Given the description of an element on the screen output the (x, y) to click on. 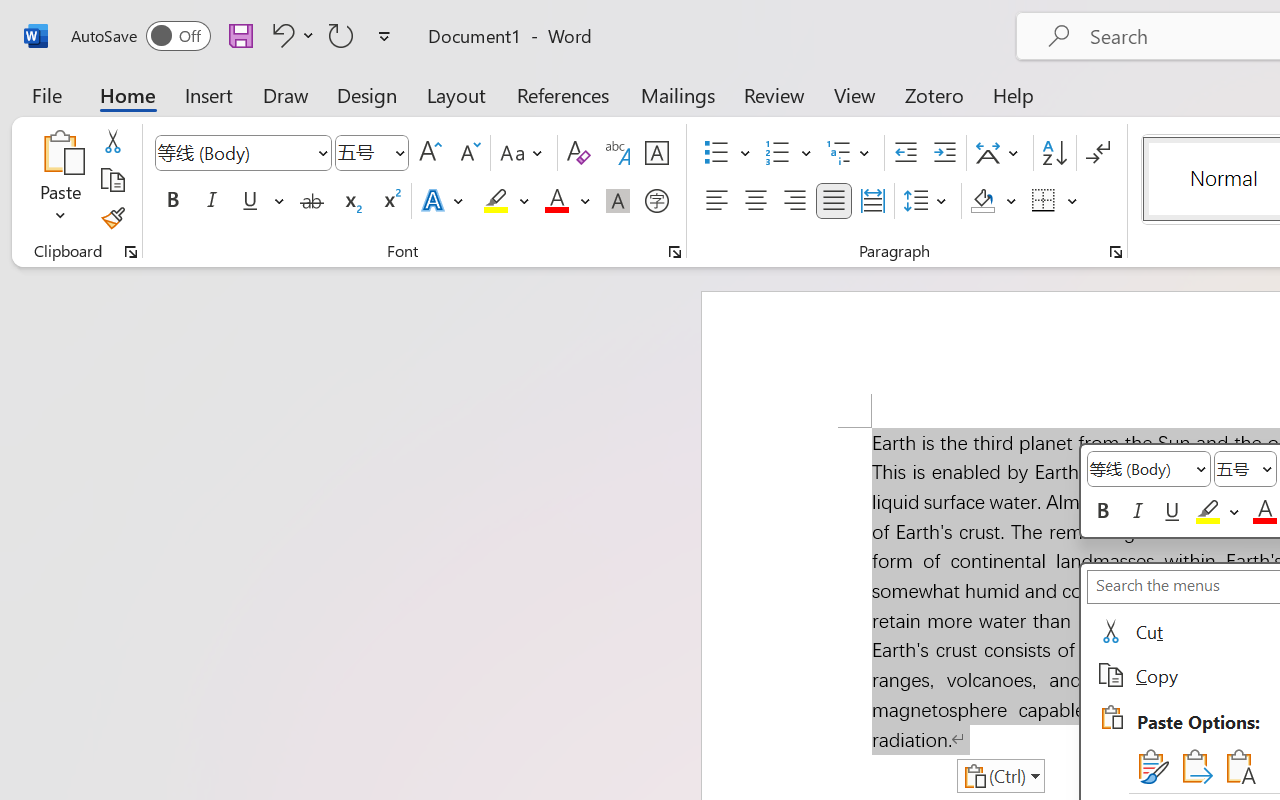
Justify (834, 201)
Increase Indent (944, 153)
Clear Formatting (578, 153)
Italic (212, 201)
Class: NetUITextbox (1236, 468)
Font... (675, 252)
Action: Paste alternatives (1000, 775)
Help (1013, 94)
Distributed (872, 201)
Shading RGB(0, 0, 0) (982, 201)
Text Effects and Typography (444, 201)
